Given the description of an element on the screen output the (x, y) to click on. 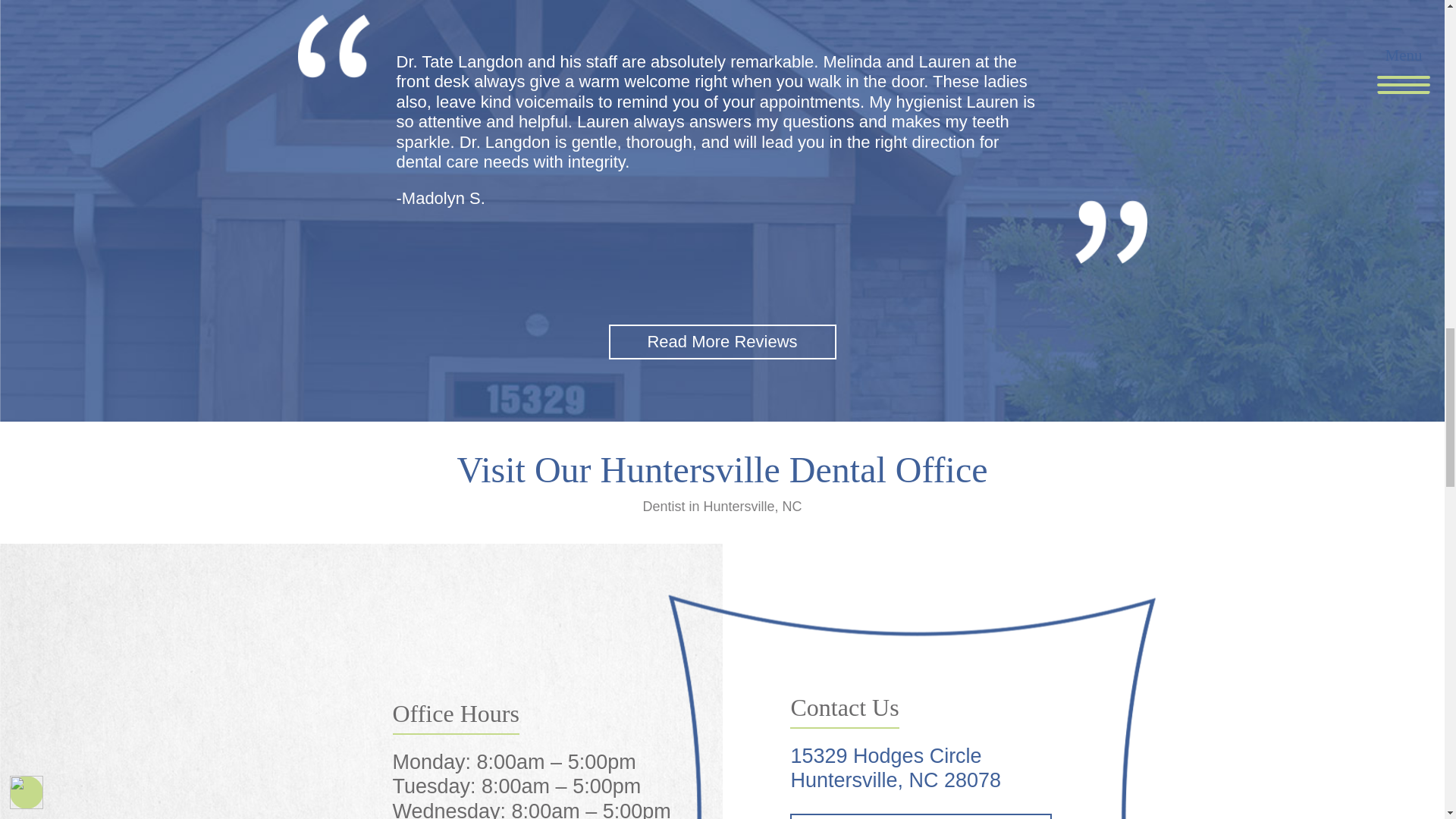
Read More Reviews (721, 341)
